Given the description of an element on the screen output the (x, y) to click on. 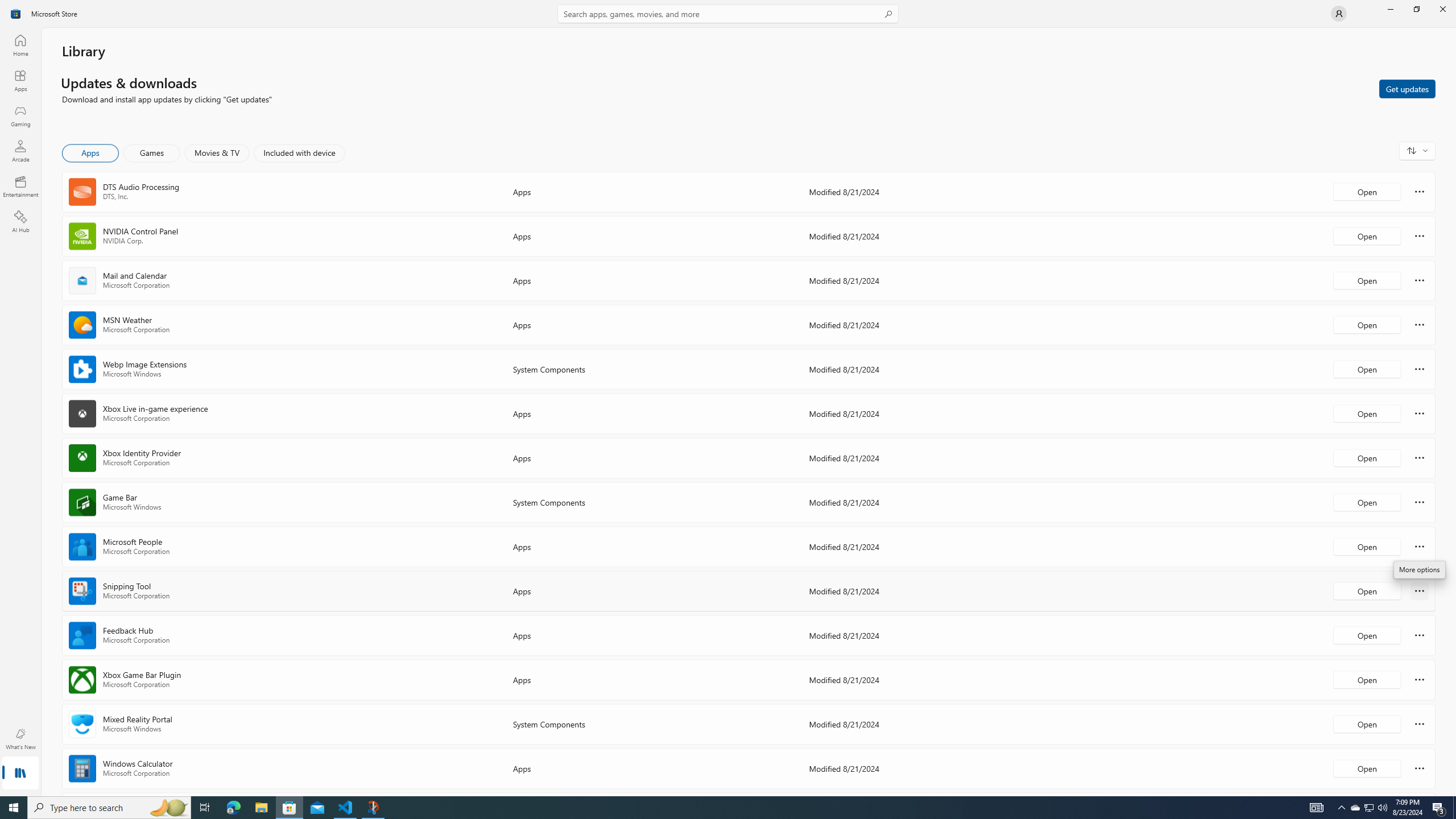
Minimize Microsoft Store (1390, 9)
Library (20, 773)
Home (20, 45)
Sort and filter (1417, 149)
Gaming (20, 115)
Games (151, 153)
Open (1366, 768)
Get updates (1406, 88)
User profile (1338, 13)
More options (1419, 768)
Restore Microsoft Store (1416, 9)
AI Hub (20, 221)
